Given the description of an element on the screen output the (x, y) to click on. 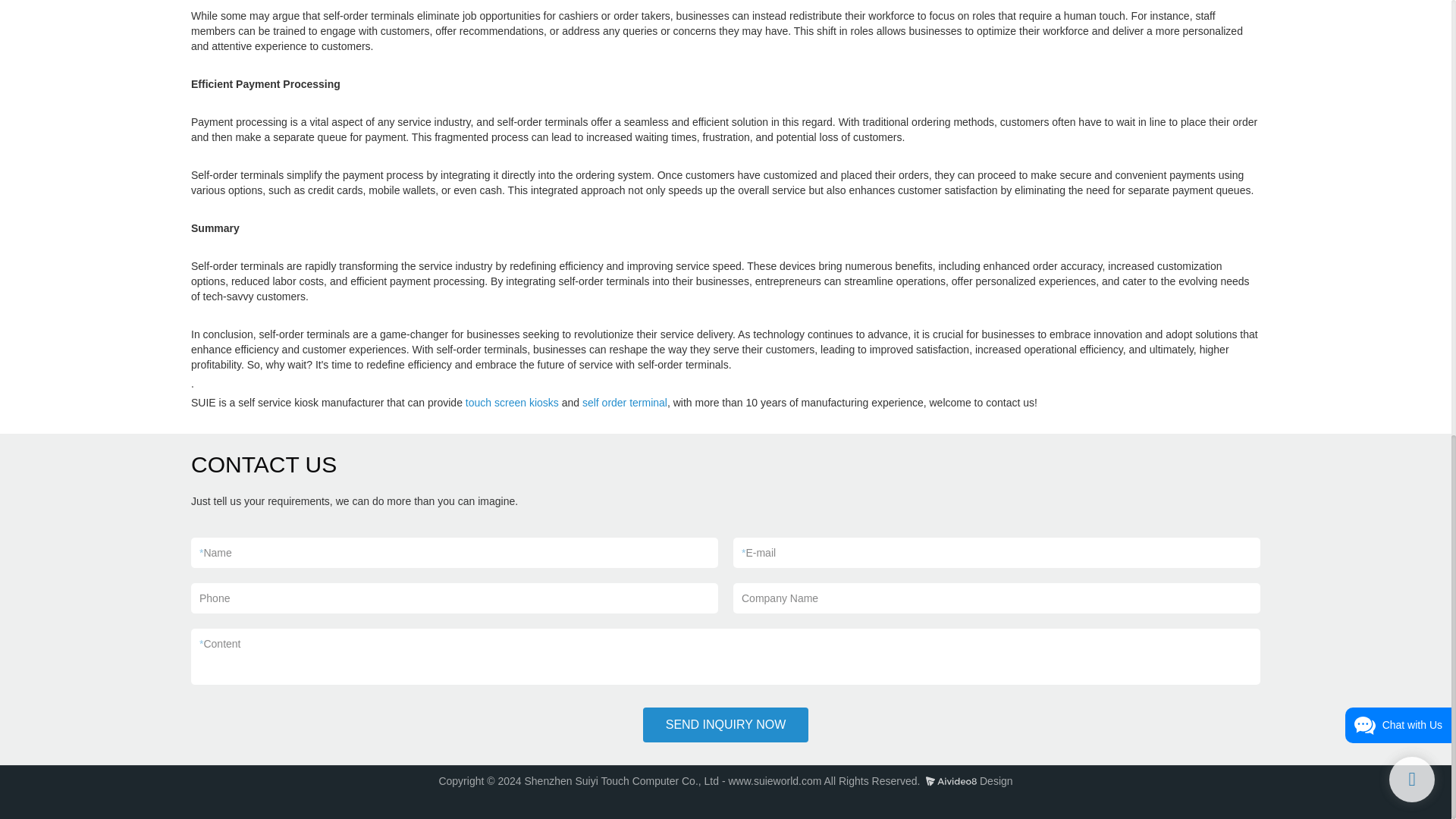
self order terminal (624, 402)
SEND INQUIRY NOW (726, 724)
touch screen kiosks (512, 402)
self order terminal (624, 402)
touch screen kiosks (512, 402)
